Given the description of an element on the screen output the (x, y) to click on. 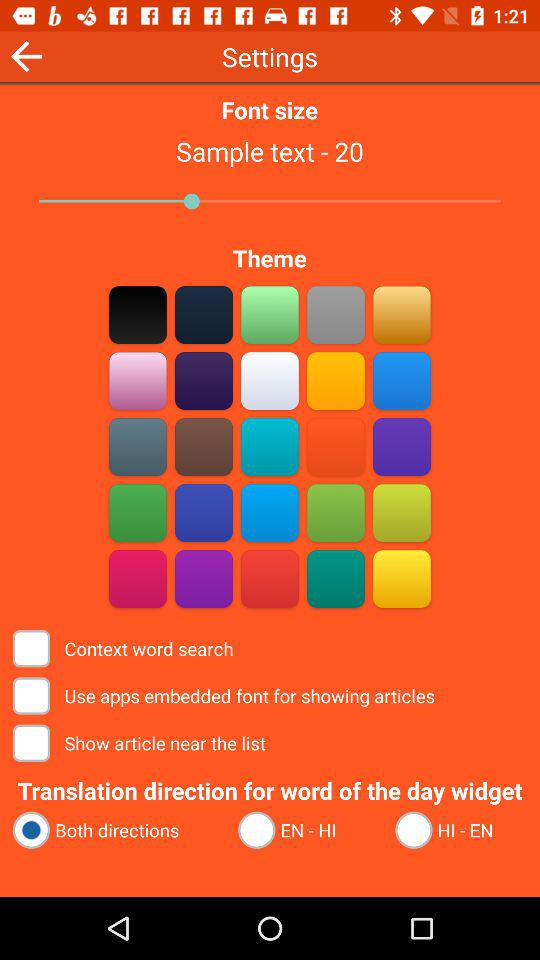
click the both directions radio button (116, 829)
